Given the description of an element on the screen output the (x, y) to click on. 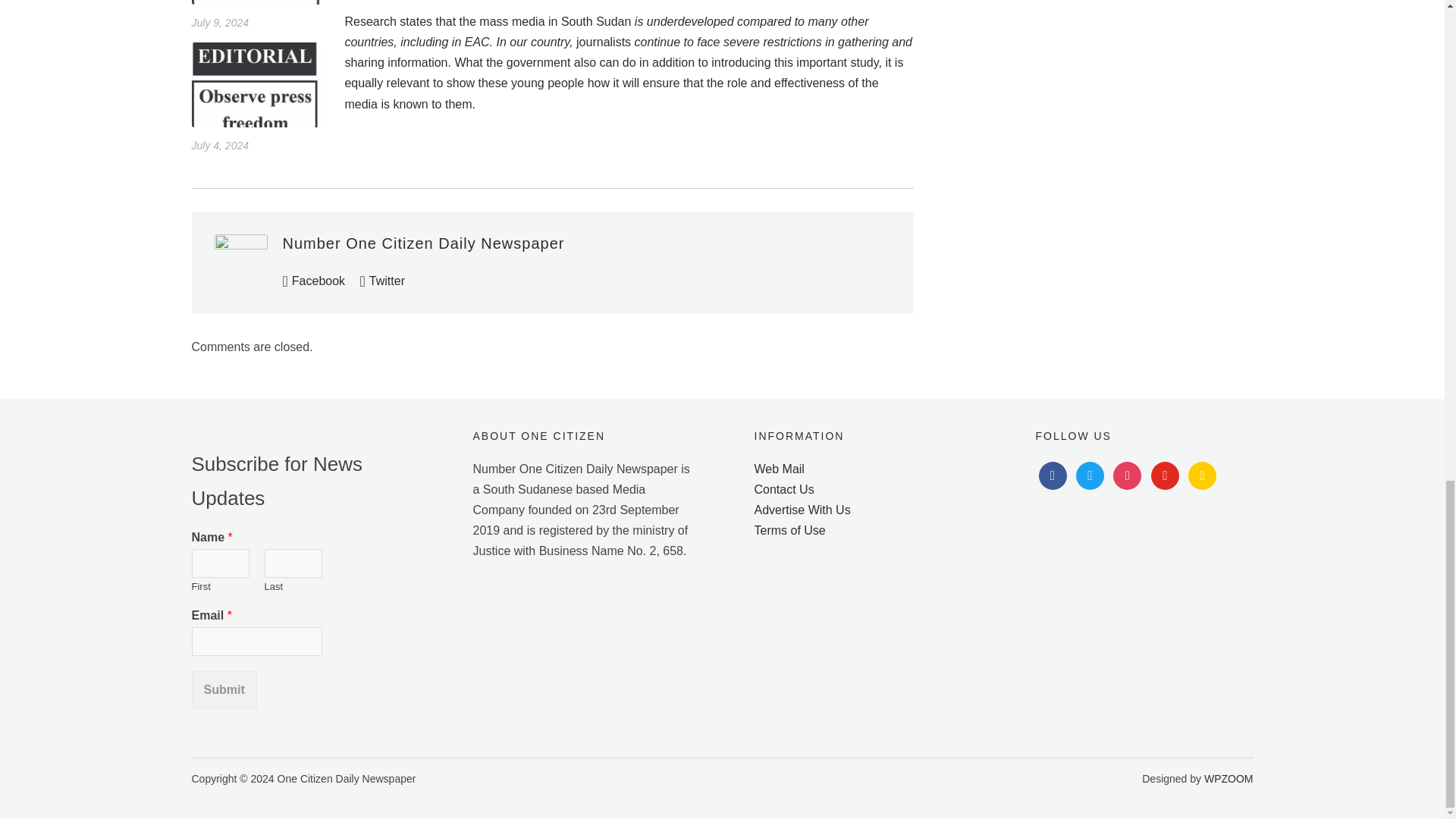
Permalink to  (255, 2)
